Given the description of an element on the screen output the (x, y) to click on. 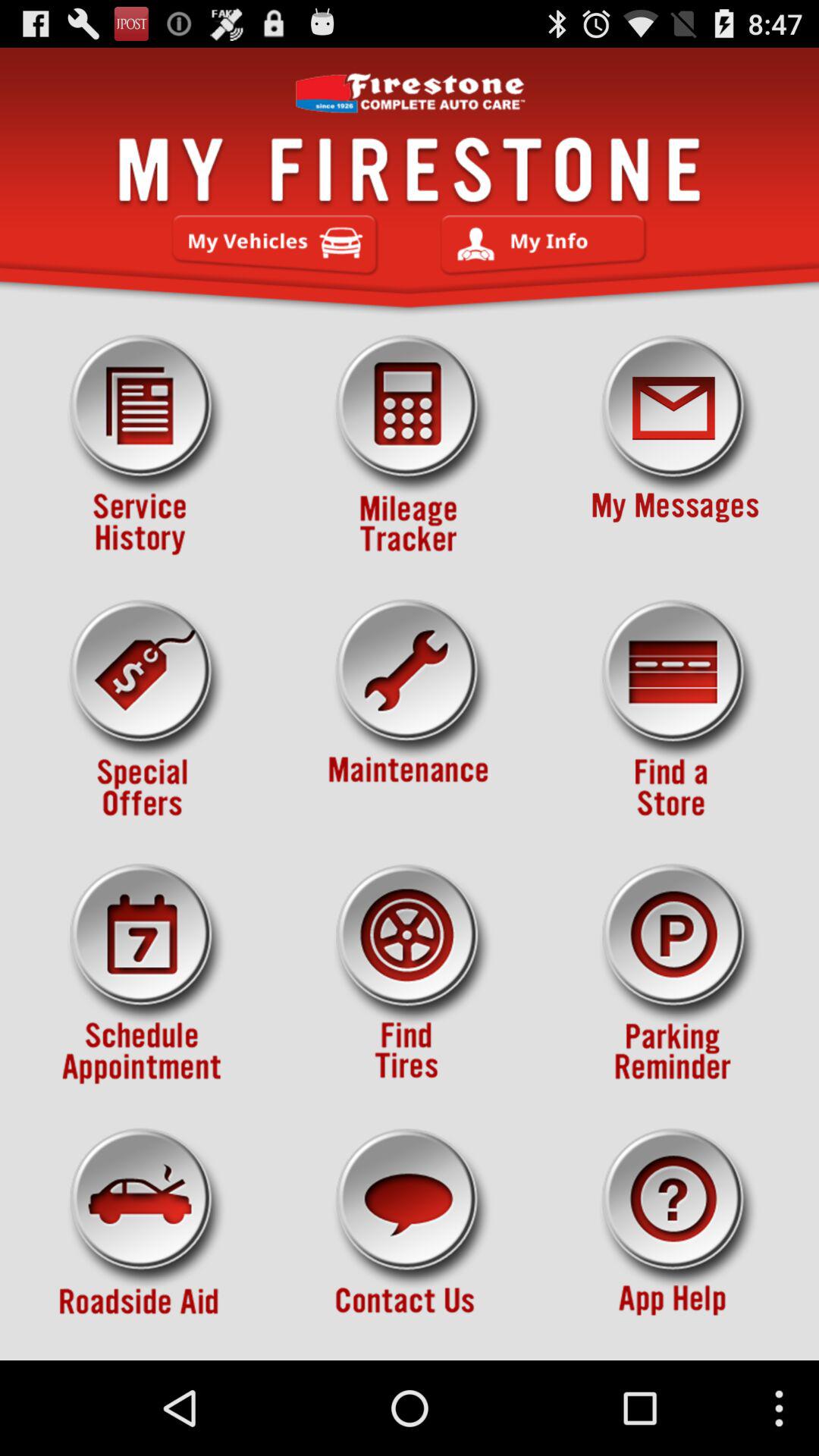
find a store (675, 709)
